Given the description of an element on the screen output the (x, y) to click on. 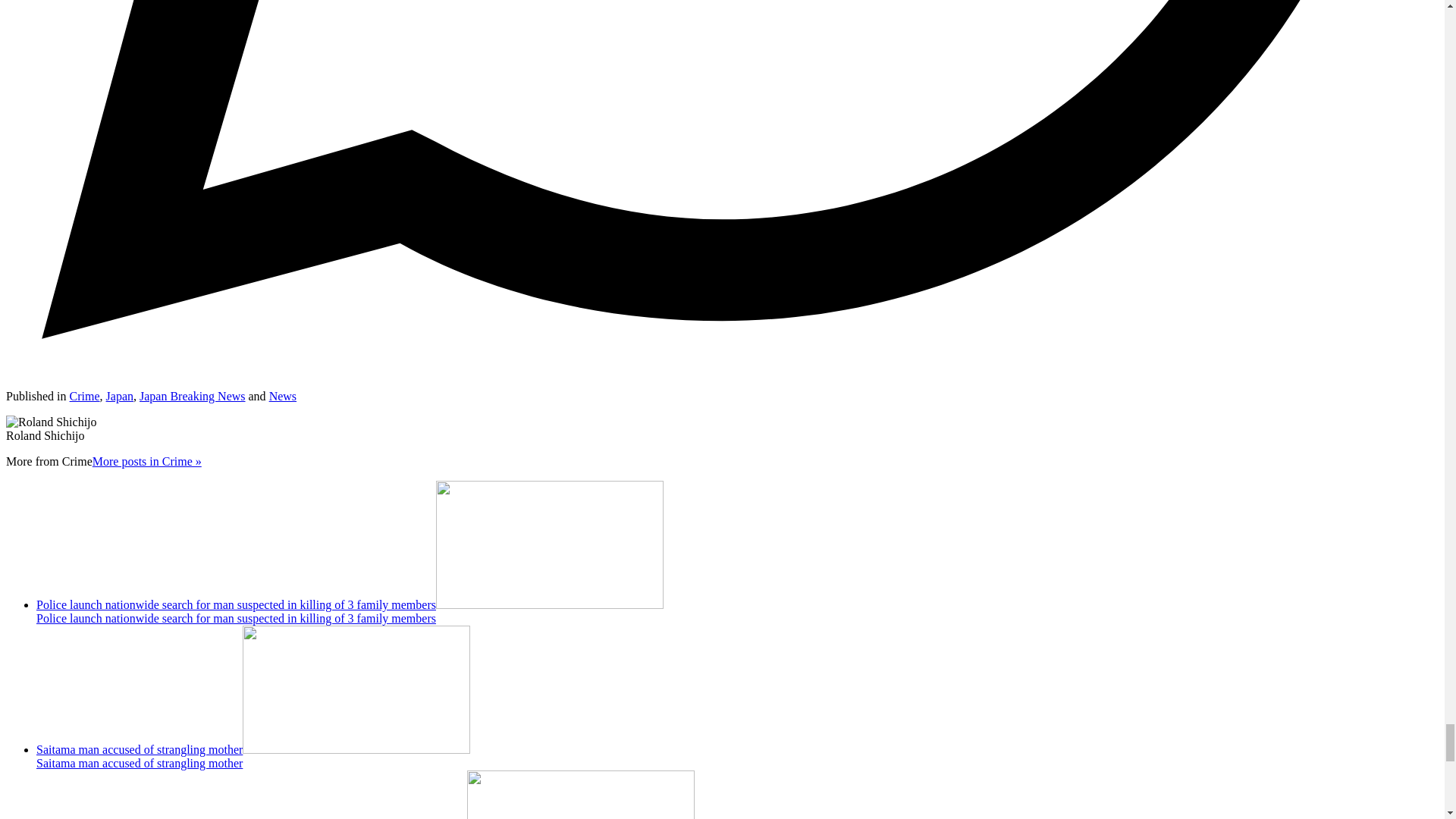
View all posts in Japan (119, 395)
View all posts in Japan Breaking News (192, 395)
View all posts in News (283, 395)
View all posts in Crime (84, 395)
